Given the description of an element on the screen output the (x, y) to click on. 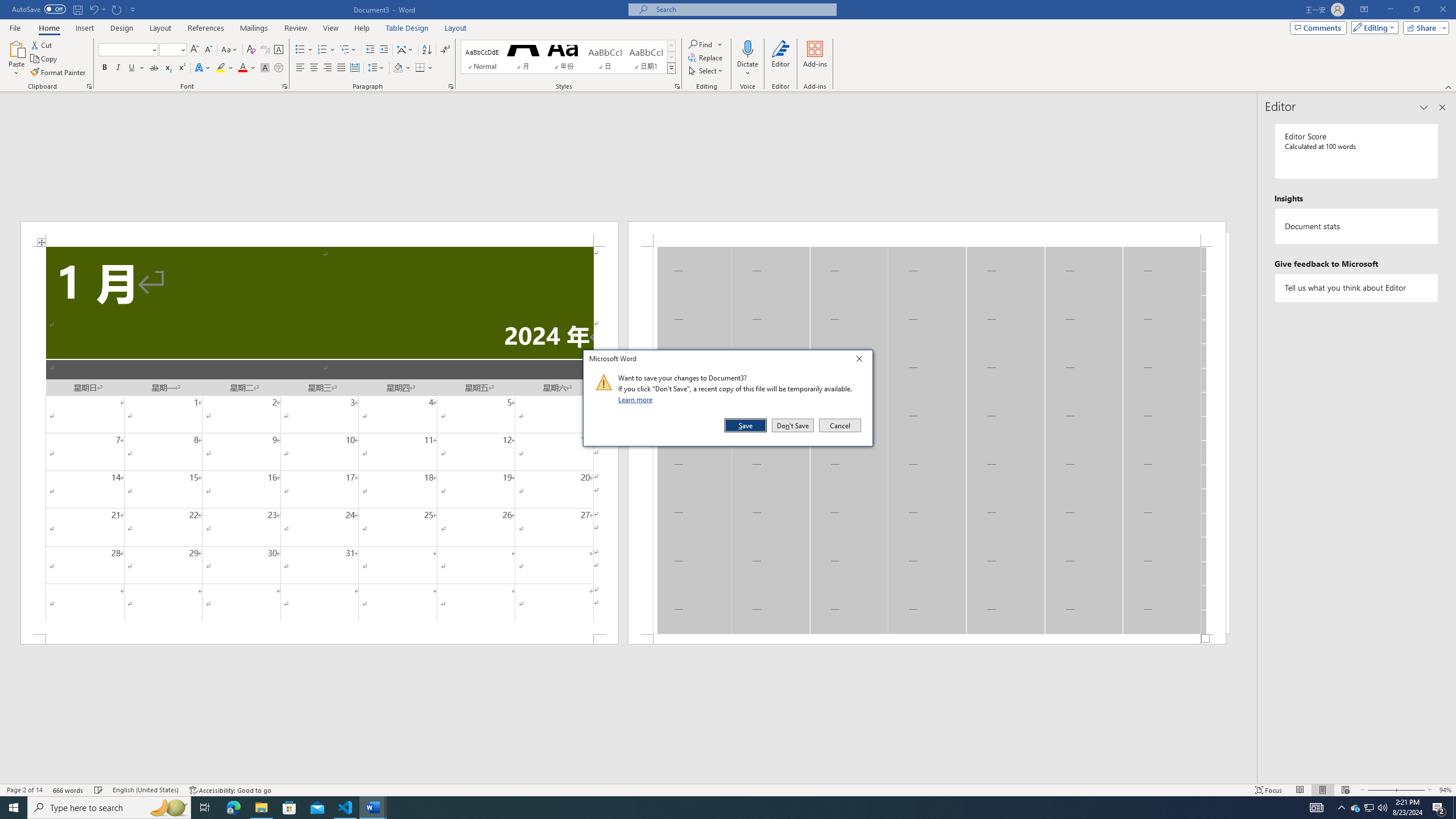
Numbering (326, 49)
Editor (780, 58)
Row Down (670, 56)
Subscript (167, 67)
AutomationID: QuickStylesGallery (568, 56)
Focus  (1268, 790)
Word Count 666 words (68, 790)
Numbering (322, 49)
Design (122, 28)
Phonetic Guide... (264, 49)
Restore Down (1416, 9)
Replace... (705, 56)
Minimize (1390, 9)
Distributed (354, 67)
Paste (16, 48)
